Given the description of an element on the screen output the (x, y) to click on. 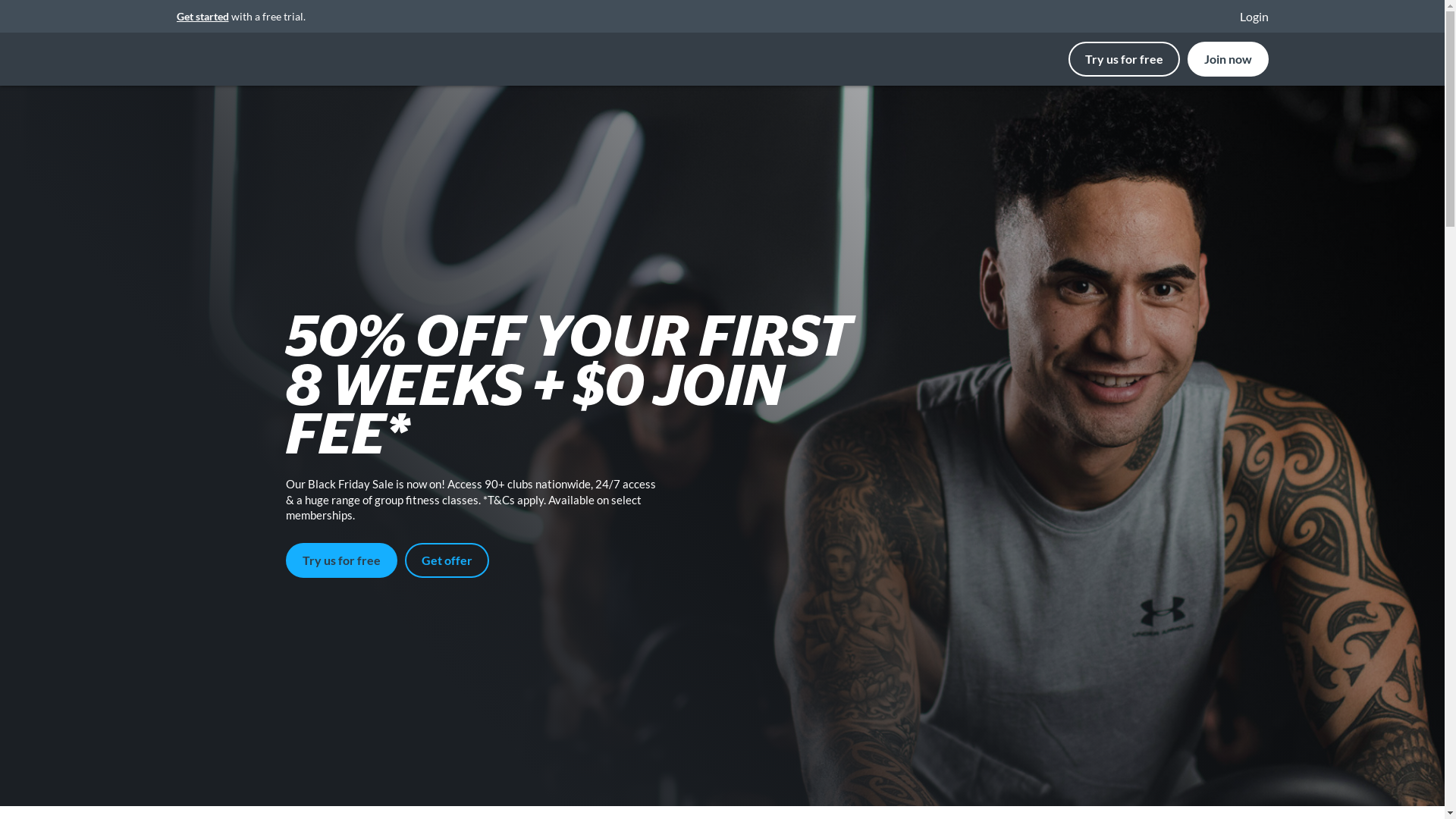
Join now Element type: text (1227, 58)
Get offer Element type: text (446, 560)
Get started Element type: text (201, 15)
Try us for free Element type: text (340, 560)
Get offer Element type: text (446, 559)
Try us for free Element type: text (1123, 58)
Login Element type: text (1247, 16)
Join now Element type: text (1227, 59)
Try us for free Element type: text (340, 559)
Try us for free Element type: text (1126, 59)
